Given the description of an element on the screen output the (x, y) to click on. 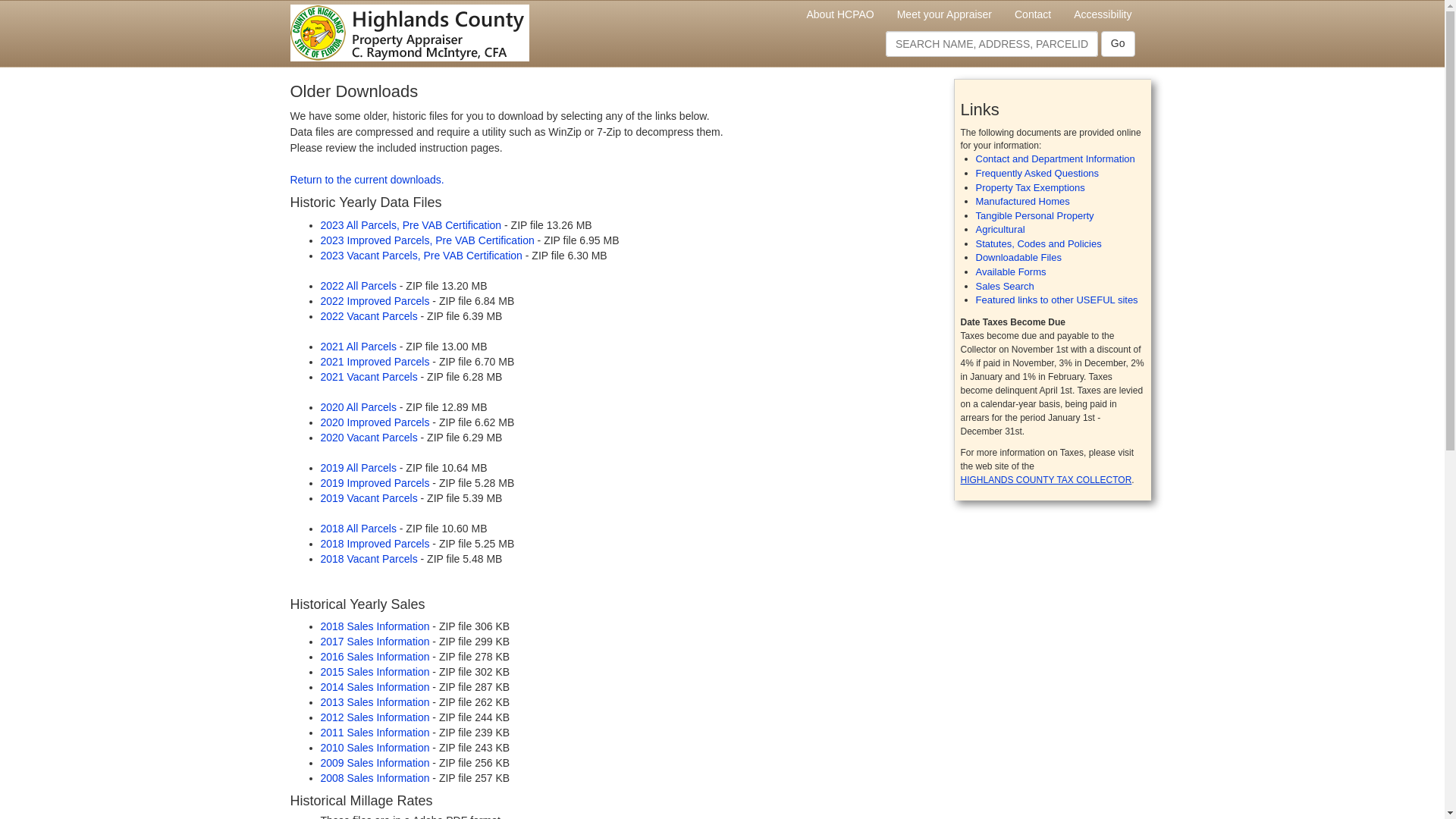
2020 Improved Parcels (374, 422)
2023 Improved Parcels, Pre VAB Certification (427, 240)
Return to the current downloads. (366, 179)
About HCPAO (839, 13)
2020 All Parcels (358, 407)
2022 Vacant Parcels (368, 316)
Property Tax Exemptions (1029, 187)
2018 Vacant Parcels (368, 558)
Search Name, Address, ParcelID (991, 43)
2021 All Parcels (358, 346)
